Given the description of an element on the screen output the (x, y) to click on. 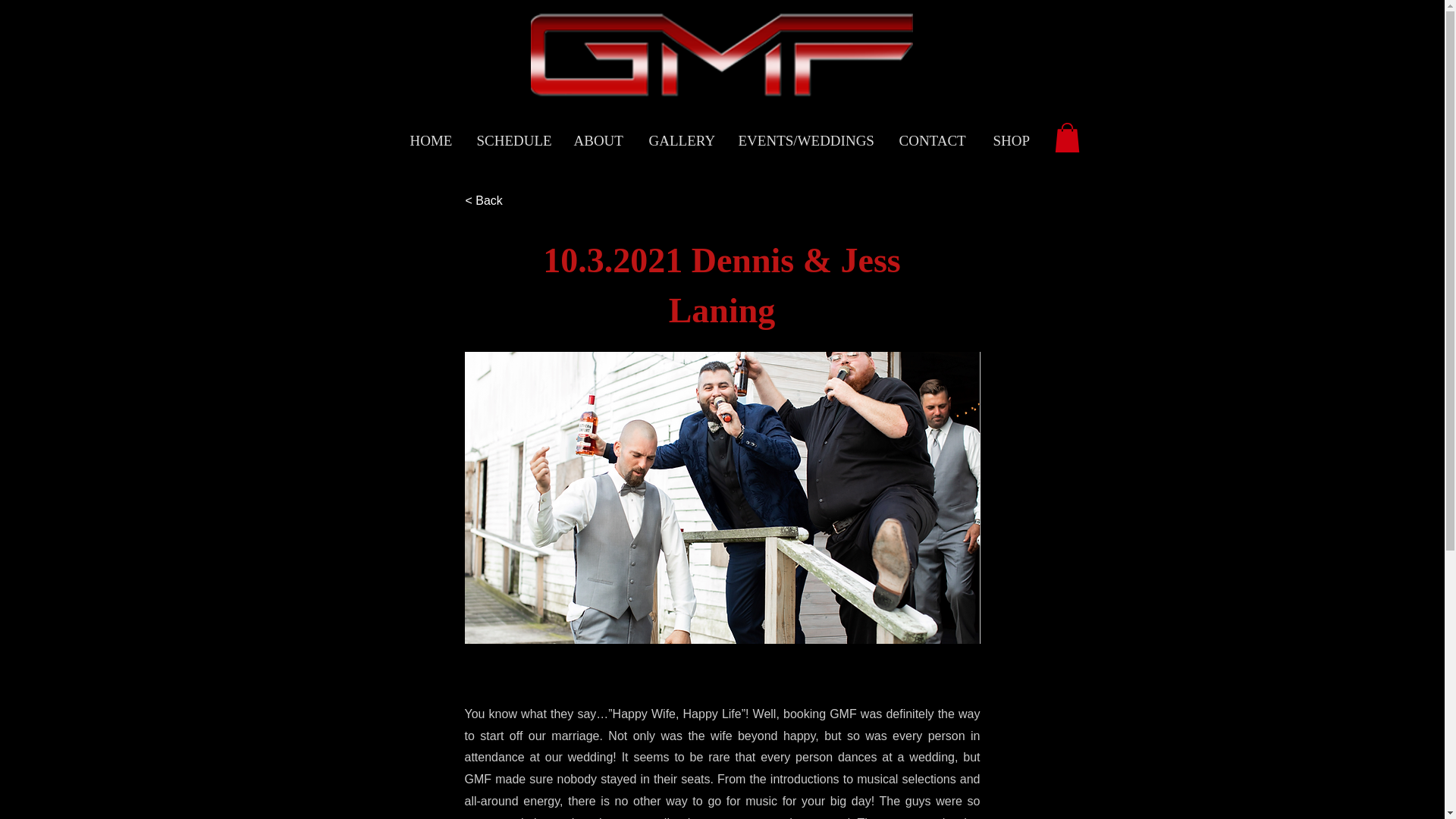
HOME (431, 140)
SHOP (1013, 140)
CONTACT (933, 140)
ABOUT (599, 140)
GALLERY (681, 140)
SCHEDULE (513, 140)
